Given the description of an element on the screen output the (x, y) to click on. 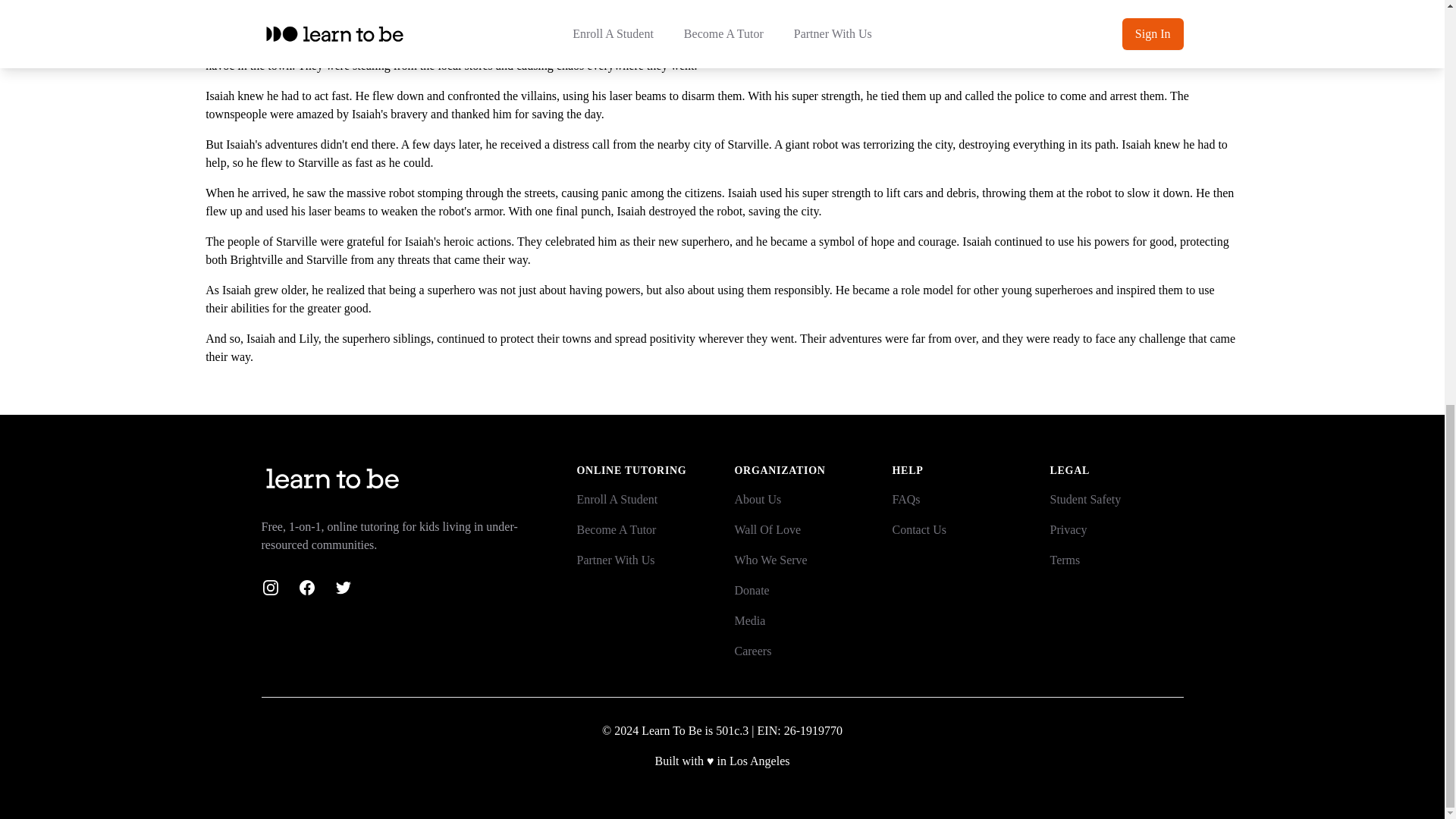
Twitter (342, 587)
Partner With Us (614, 559)
About Us (756, 499)
Terms (1064, 559)
FAQs (905, 499)
Wall Of Love (766, 529)
Contact Us (918, 529)
Enroll A Student (617, 499)
Media (749, 620)
Donate (750, 590)
Careers (752, 650)
Who We Serve (769, 559)
Privacy (1067, 529)
Student Safety (1085, 499)
Facebook (306, 587)
